Given the description of an element on the screen output the (x, y) to click on. 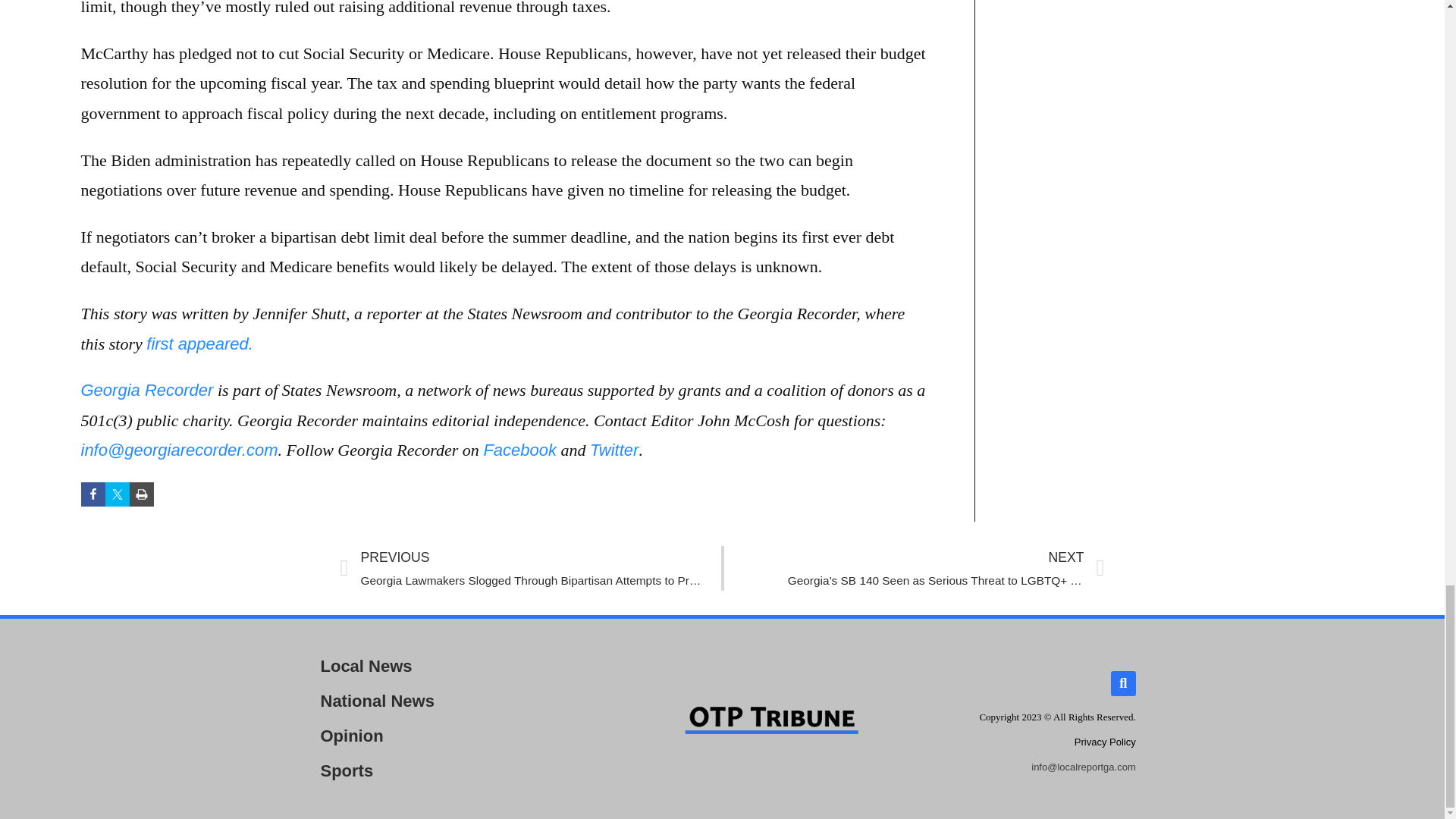
Print this Page (140, 494)
Share on Facebook (92, 494)
Local News (438, 666)
Twitter (614, 449)
Share on Twitter (116, 494)
Sports (438, 770)
Facebook (519, 449)
Georgia Recorder (146, 389)
Opinion (438, 736)
